Given the description of an element on the screen output the (x, y) to click on. 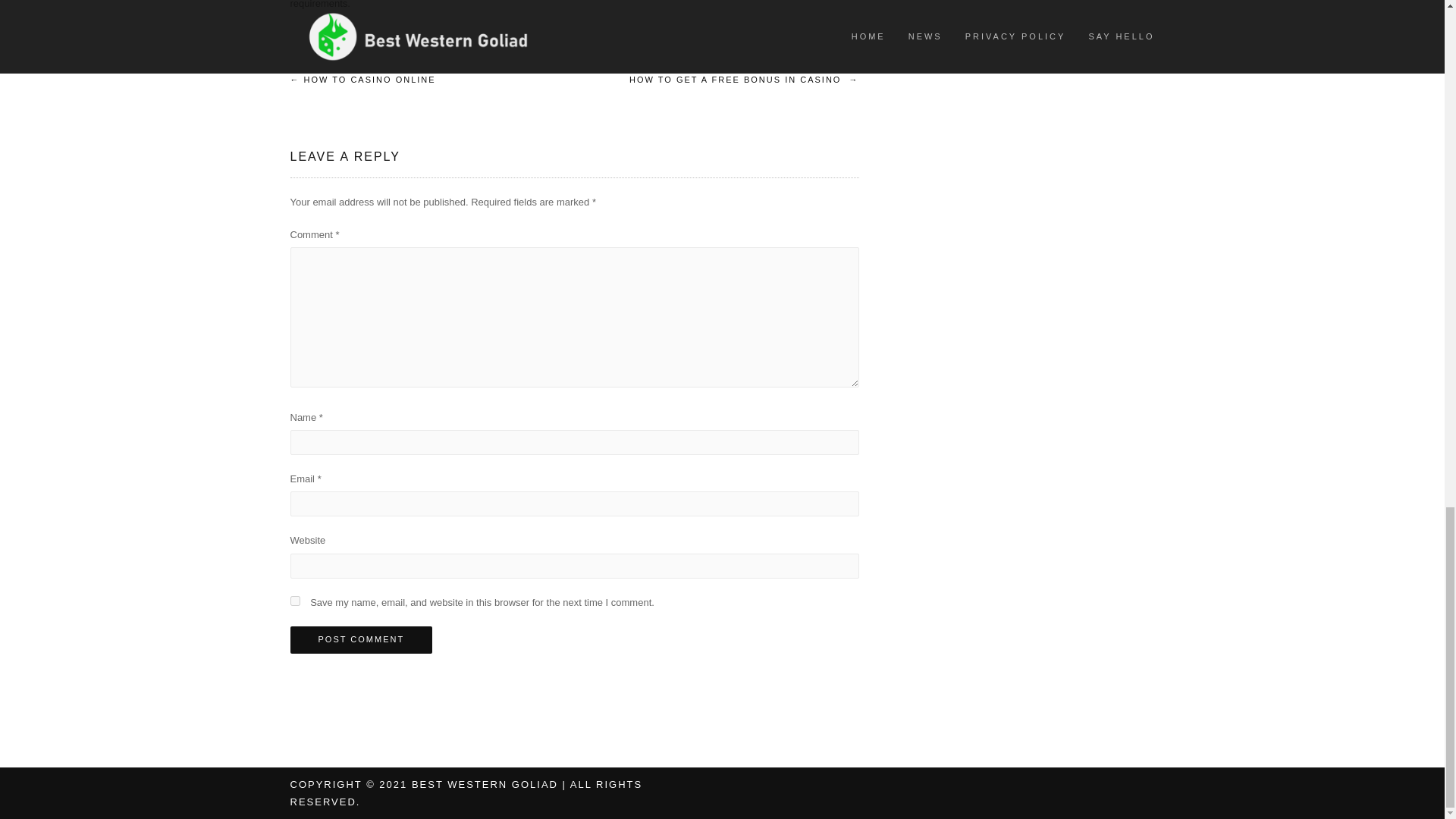
yes (294, 601)
Post Comment (360, 639)
Post Comment (360, 639)
